Given the description of an element on the screen output the (x, y) to click on. 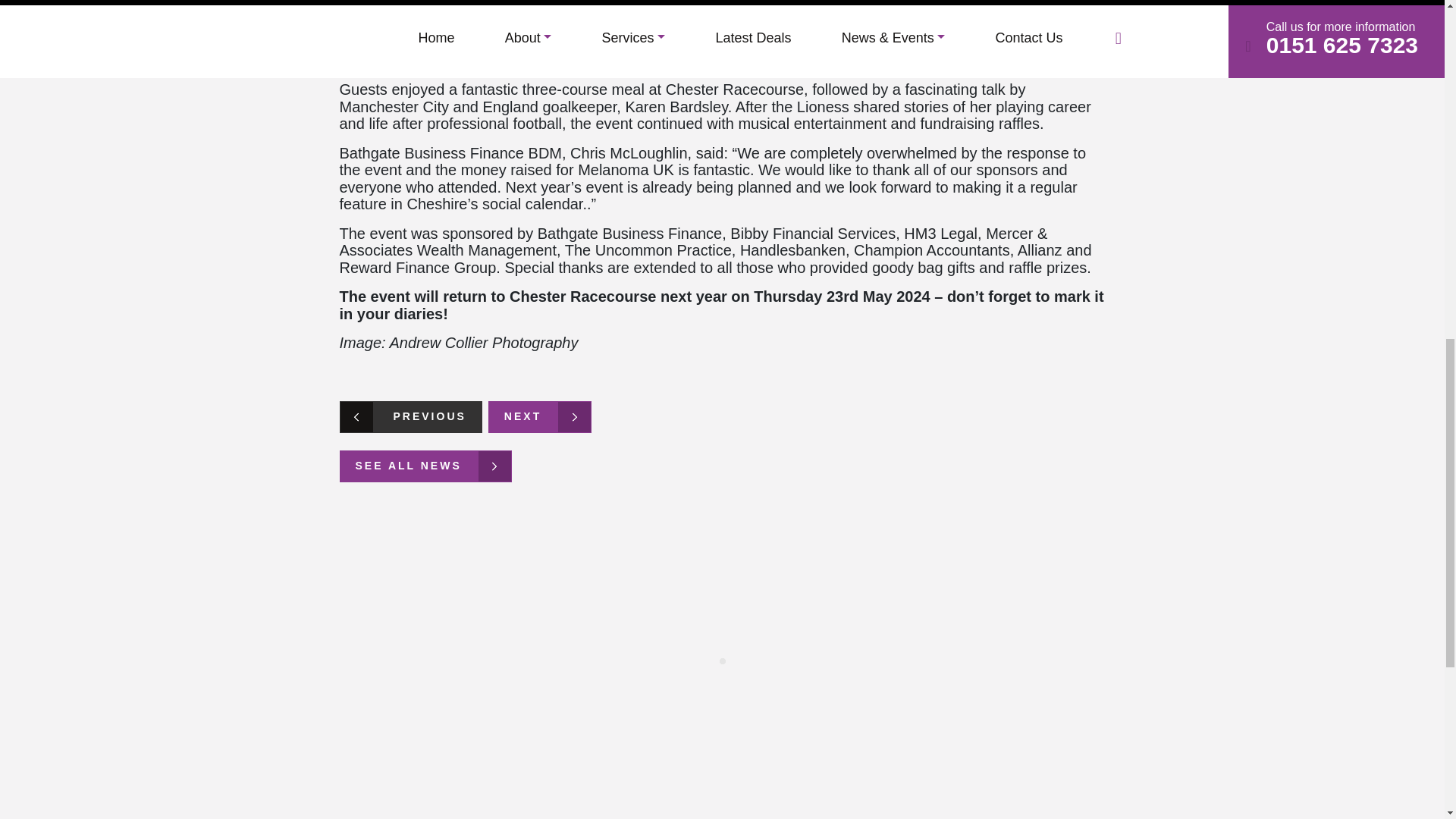
NEXT (539, 417)
PREVIOUS (410, 417)
SEE ALL NEWS (425, 466)
